Given the description of an element on the screen output the (x, y) to click on. 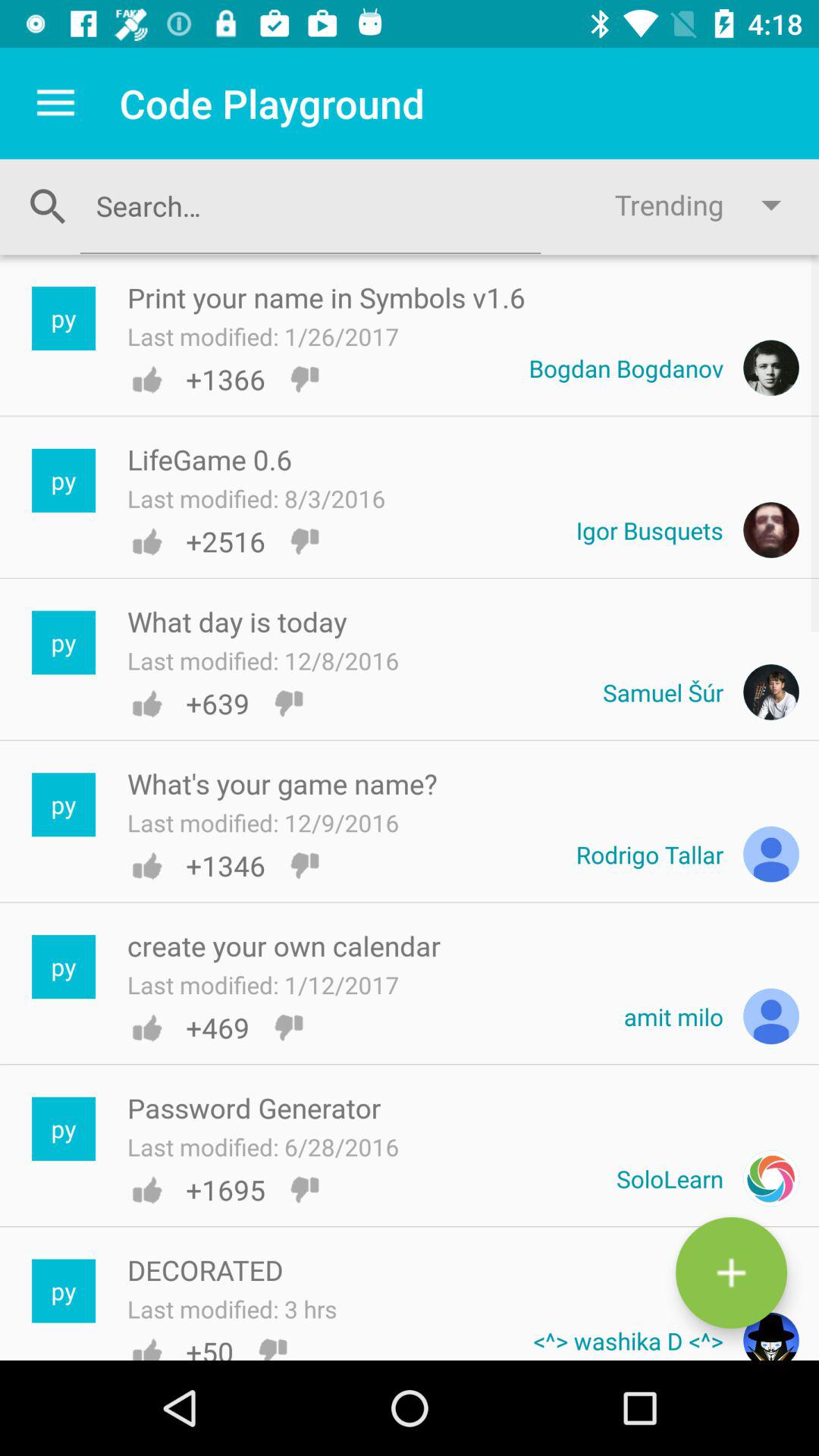
add symbol (731, 1272)
